Given the description of an element on the screen output the (x, y) to click on. 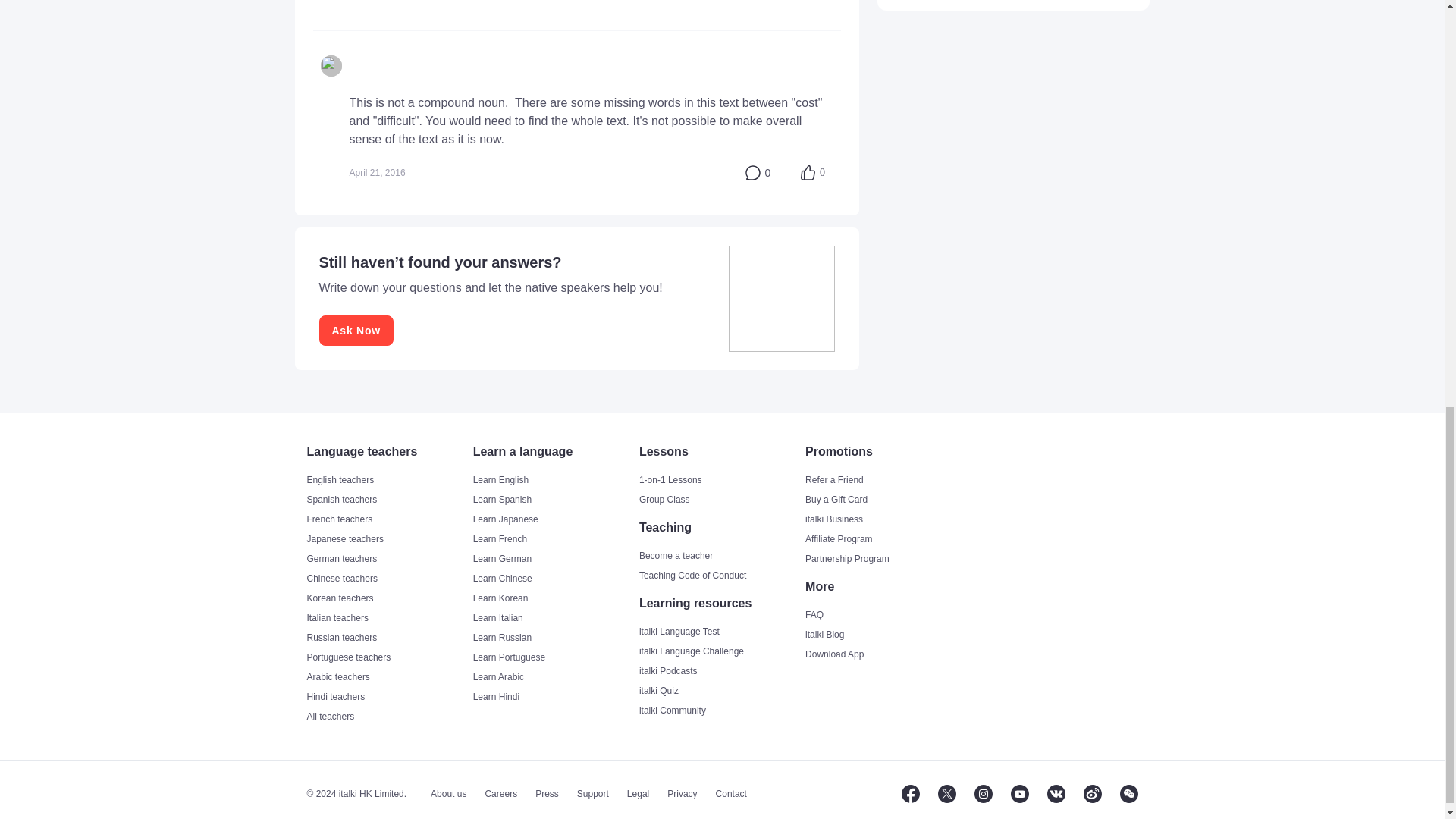
Italian teachers (386, 617)
Learn French (554, 539)
Ask Now (355, 330)
Japanese teachers (386, 539)
Portuguese teachers (386, 657)
Chinese teachers (386, 578)
Korean teachers (386, 598)
Learn Russian (554, 637)
Russian teachers (386, 637)
Spanish teachers (386, 499)
